Given the description of an element on the screen output the (x, y) to click on. 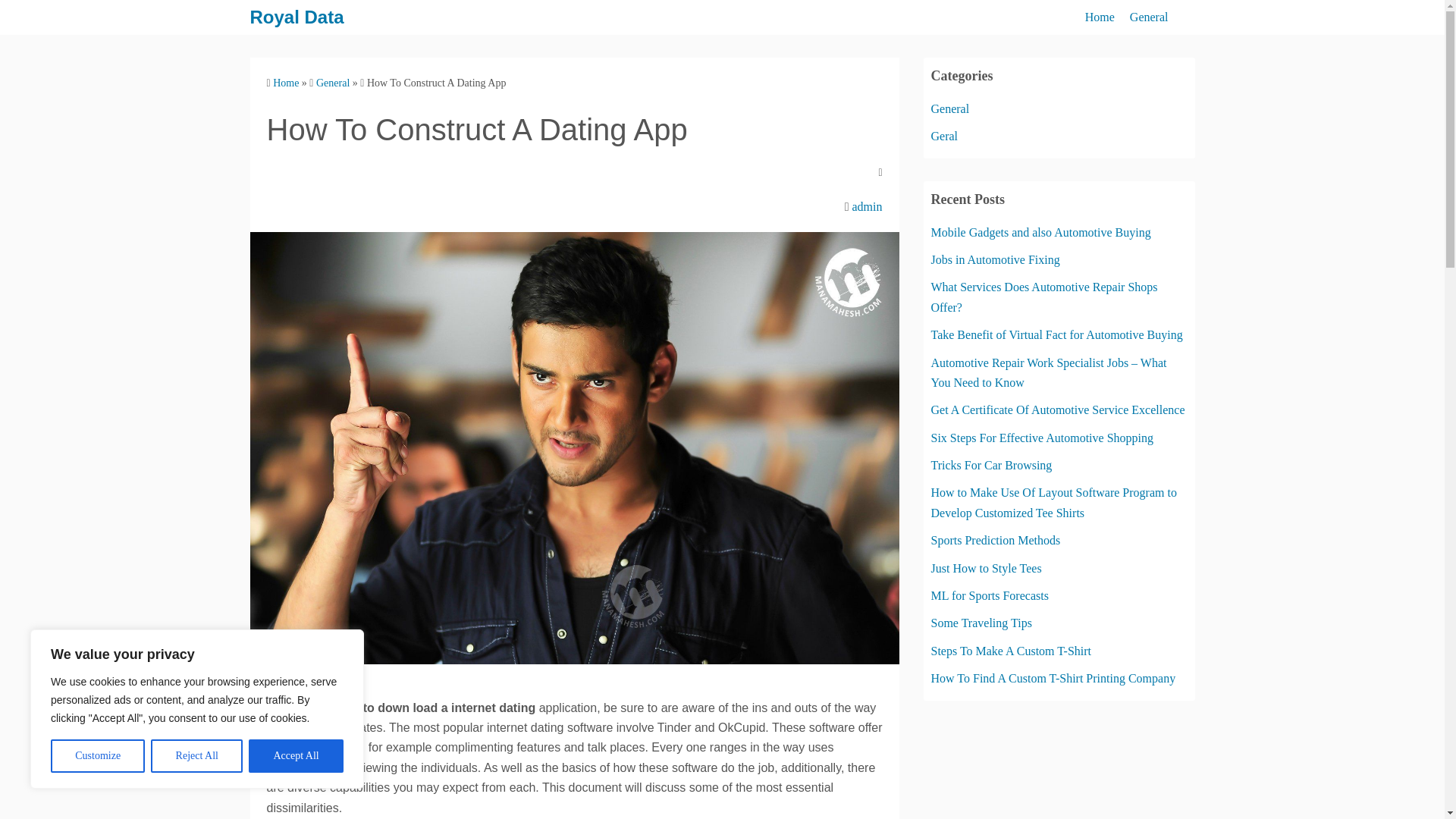
What Services Does Automotive Repair Shops Offer? (1044, 296)
Royal Data (296, 16)
Home (285, 82)
Reject All (197, 756)
Accept All (295, 756)
General (1149, 17)
General (950, 108)
Mobile Gadgets and also Automotive Buying (1041, 232)
Customize (97, 756)
admin (866, 205)
